Given the description of an element on the screen output the (x, y) to click on. 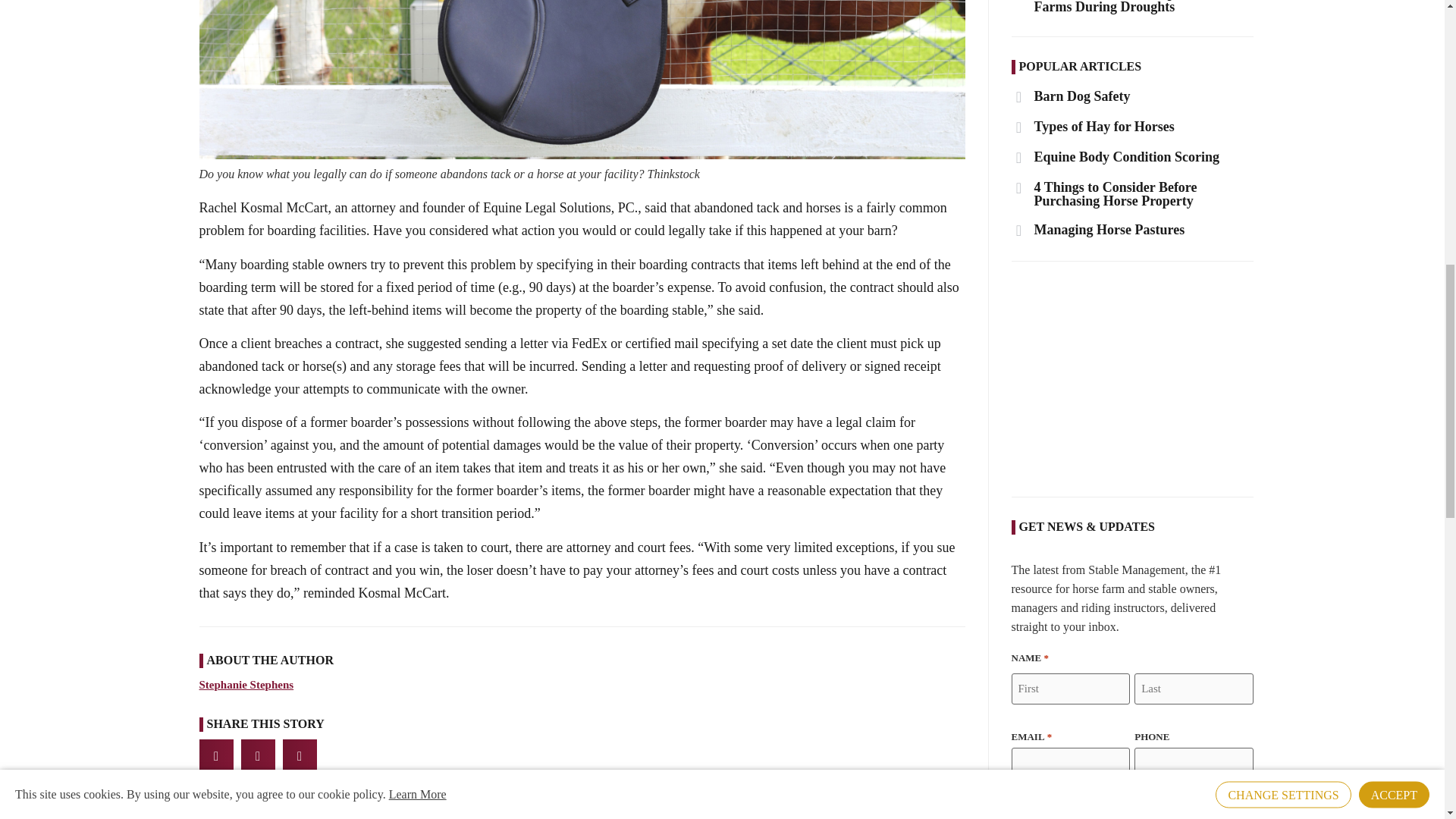
3rd party ad content (1132, 379)
